Given the description of an element on the screen output the (x, y) to click on. 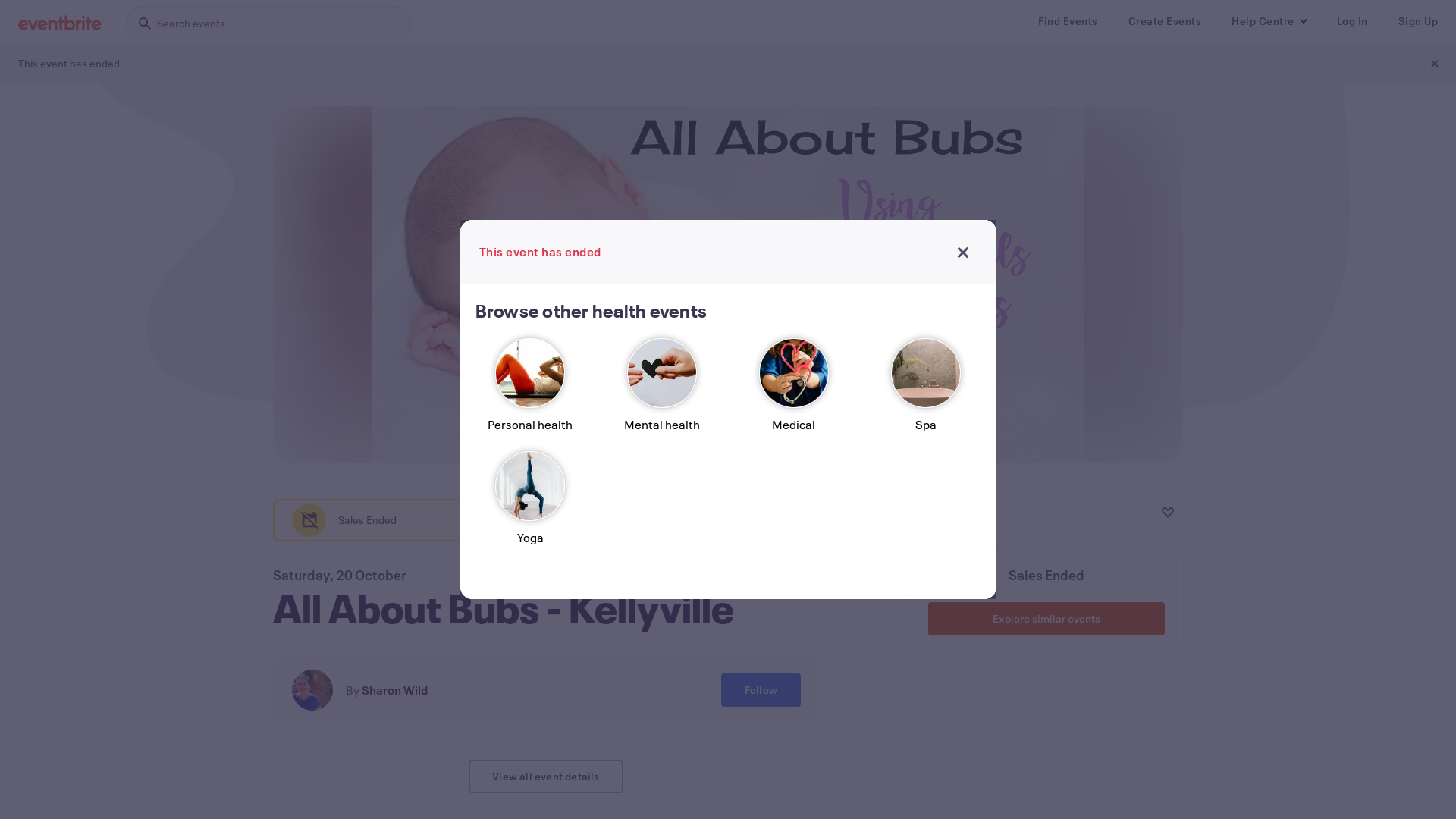
Personal health Element type: text (530, 391)
Yoga Element type: text (530, 504)
Find Events Element type: text (1068, 21)
Spa Element type: text (925, 391)
Medical Element type: text (793, 391)
Explore similar events Element type: text (1046, 618)
Log In Element type: text (1351, 21)
Follow Element type: text (760, 689)
Eventbrite Element type: hover (59, 22)
Search events Element type: text (268, 22)
Sign Up Element type: text (1418, 21)
Create Events Element type: text (1165, 21)
Mental health Element type: text (661, 391)
View all event details Element type: text (545, 776)
